Given the description of an element on the screen output the (x, y) to click on. 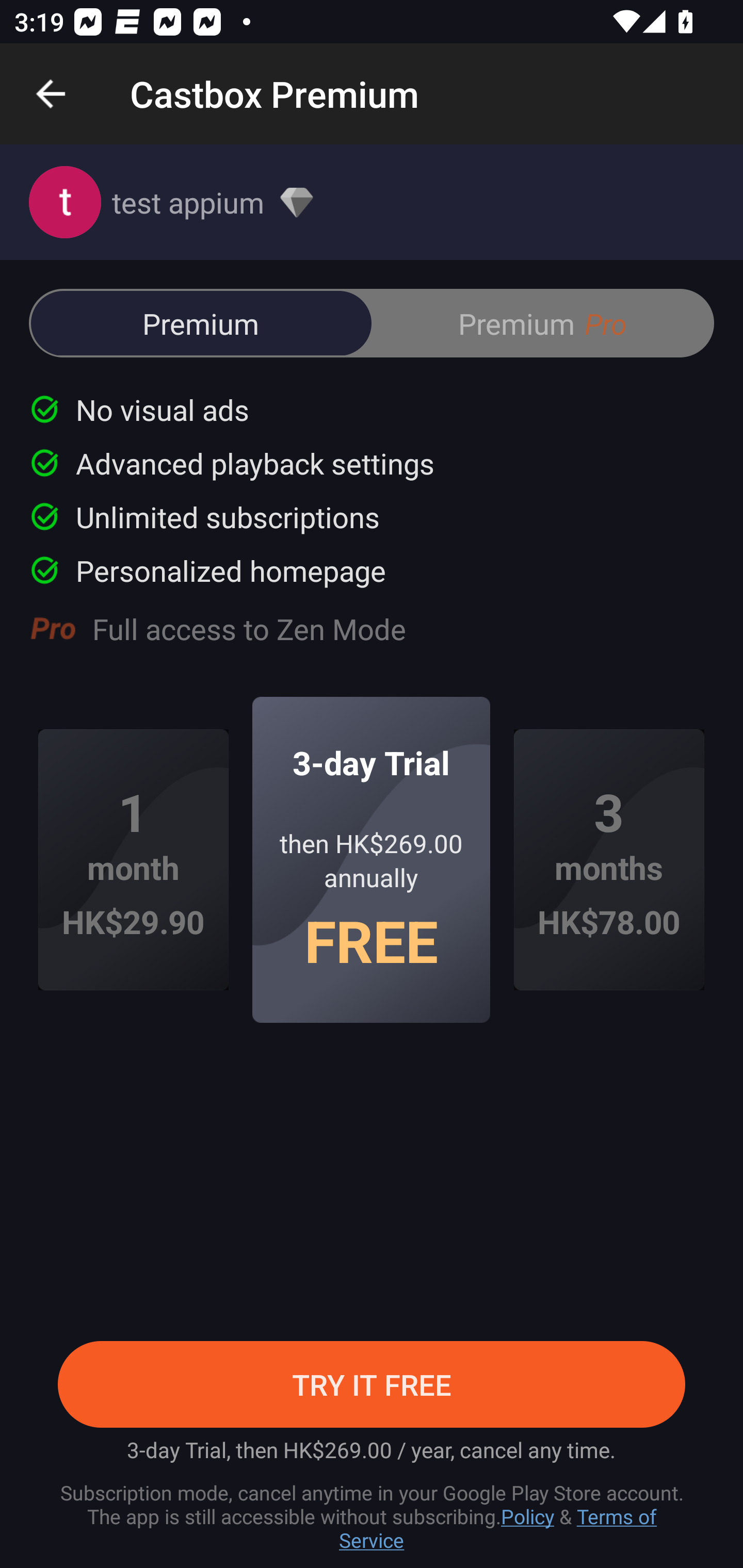
Navigate up (50, 93)
test appium (371, 202)
Premium (201, 322)
Premium Pro (541, 322)
3-day Trial then HK$269.00 annually FREE (371, 859)
1 month HK$29.90 (132, 859)
3 months HK$78.00 (609, 859)
TRY IT FREE (371, 1384)
